Given the description of an element on the screen output the (x, y) to click on. 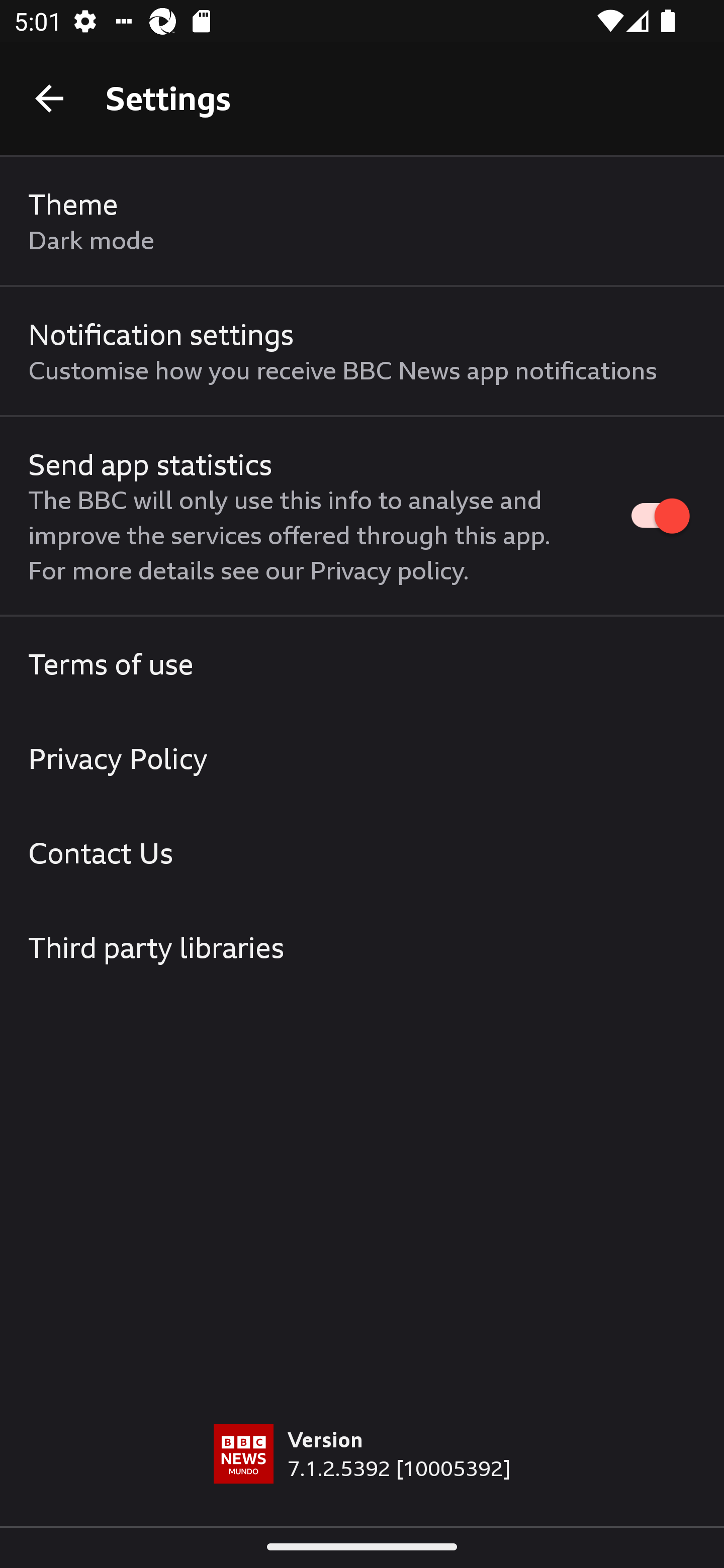
Back (49, 97)
Theme Dark mode (362, 220)
Terms of use (362, 663)
Privacy Policy (362, 758)
Contact Us (362, 852)
Third party libraries (362, 947)
Version 7.1.2.5392 [10005392] (362, 1474)
